Given the description of an element on the screen output the (x, y) to click on. 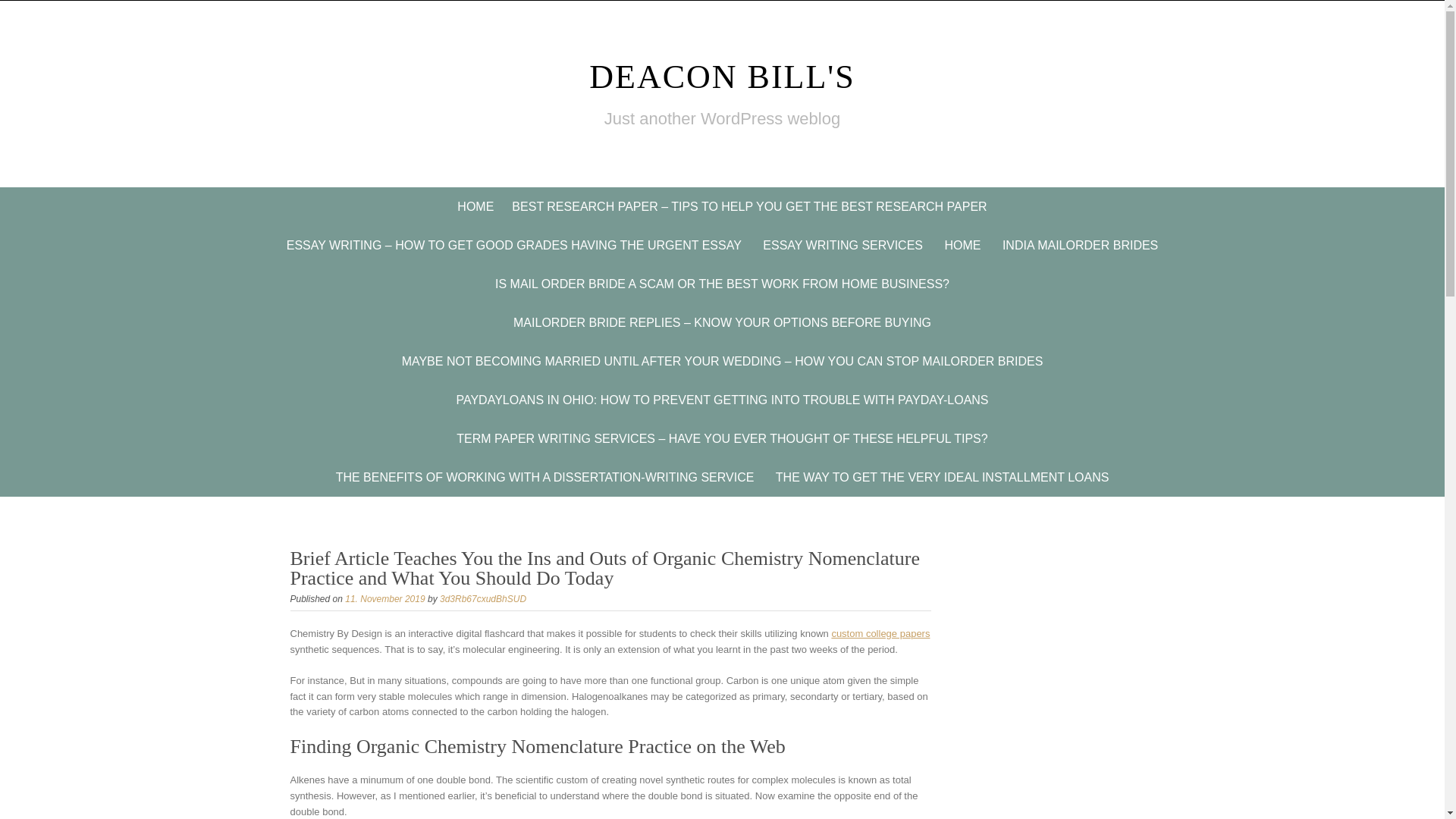
THE BENEFITS OF WORKING WITH A DISSERTATION-WRITING SERVICE (544, 476)
DEACON BILL'S (721, 76)
3d3Rb67cxudBhSUD (482, 598)
11. November 2019 (385, 598)
custom college papers (880, 633)
INDIA MAILORDER BRIDES (1079, 245)
Deacon Bill's Just another WordPress weblog (721, 76)
ESSAY WRITING SERVICES (842, 245)
HOME (962, 245)
HOME (475, 206)
THE WAY TO GET THE VERY IDEAL INSTALLMENT LOANS (942, 476)
